Given the description of an element on the screen output the (x, y) to click on. 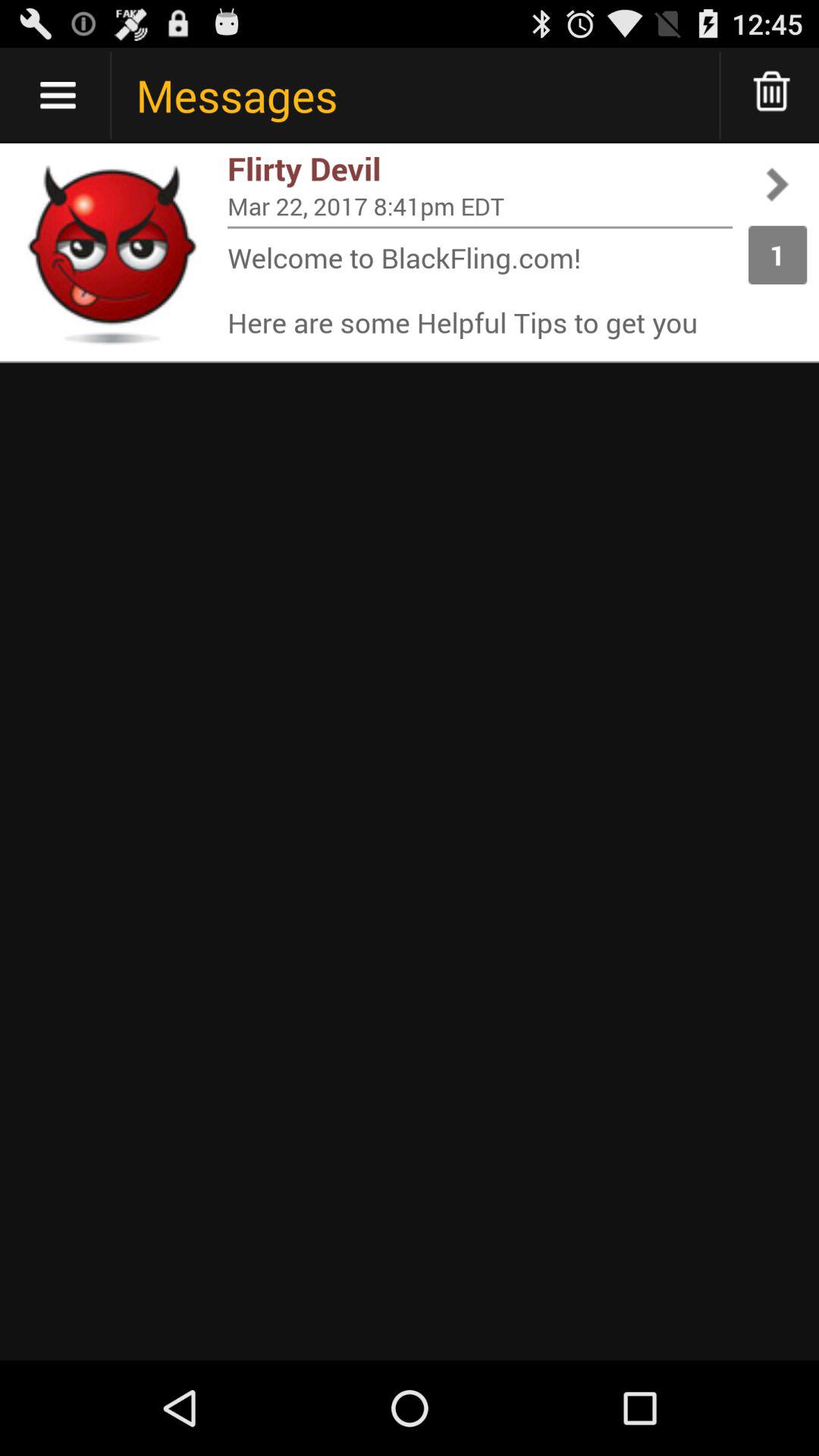
click the item to the left of 1 icon (479, 289)
